Given the description of an element on the screen output the (x, y) to click on. 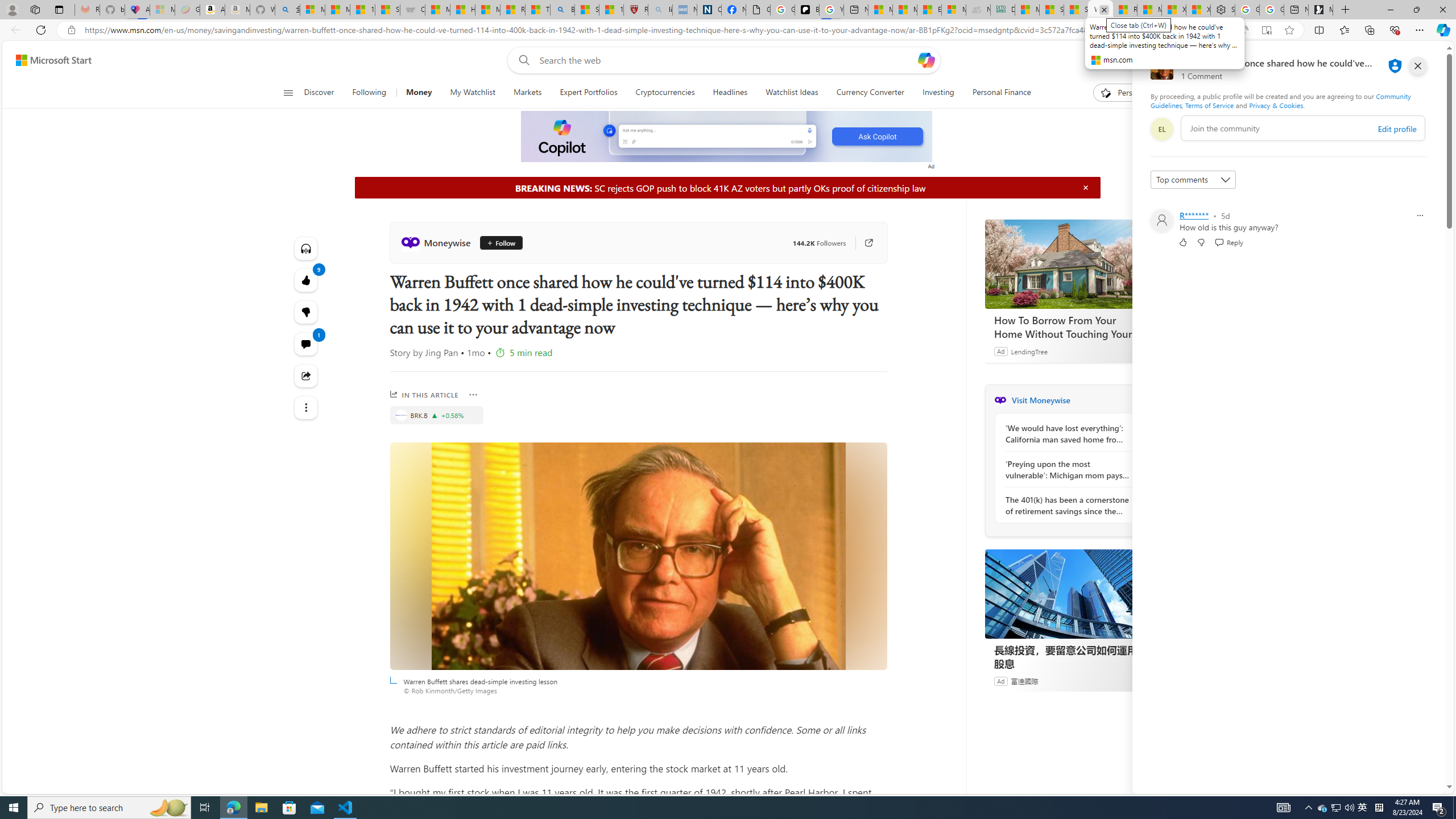
9 (305, 312)
Warren Buffett shares dead-simple investing lesson (637, 555)
Warren Buffett shares dead-simple investing lesson (637, 555)
